Given the description of an element on the screen output the (x, y) to click on. 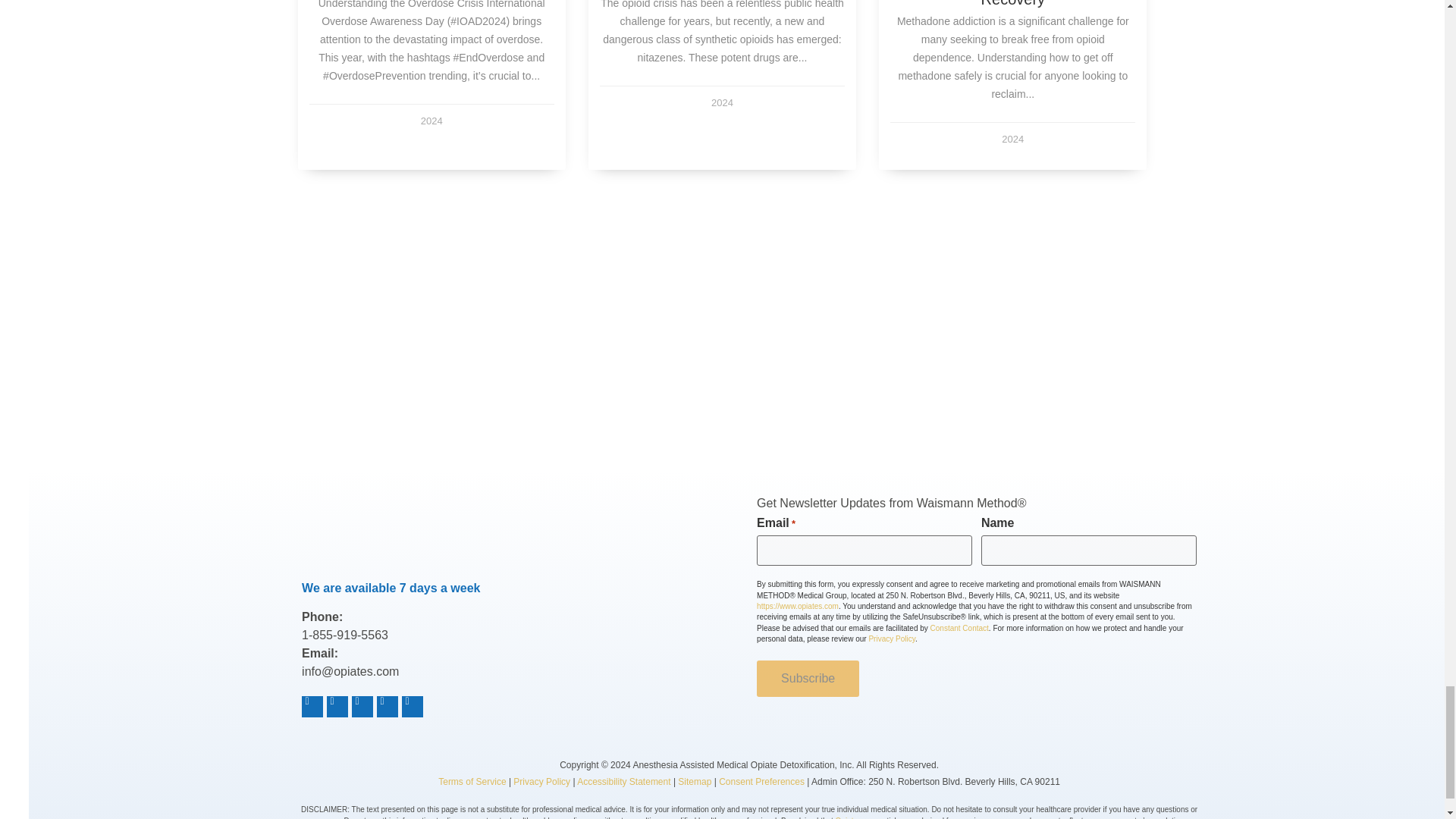
expertise (809, 366)
Subscribe (808, 678)
